Given the description of an element on the screen output the (x, y) to click on. 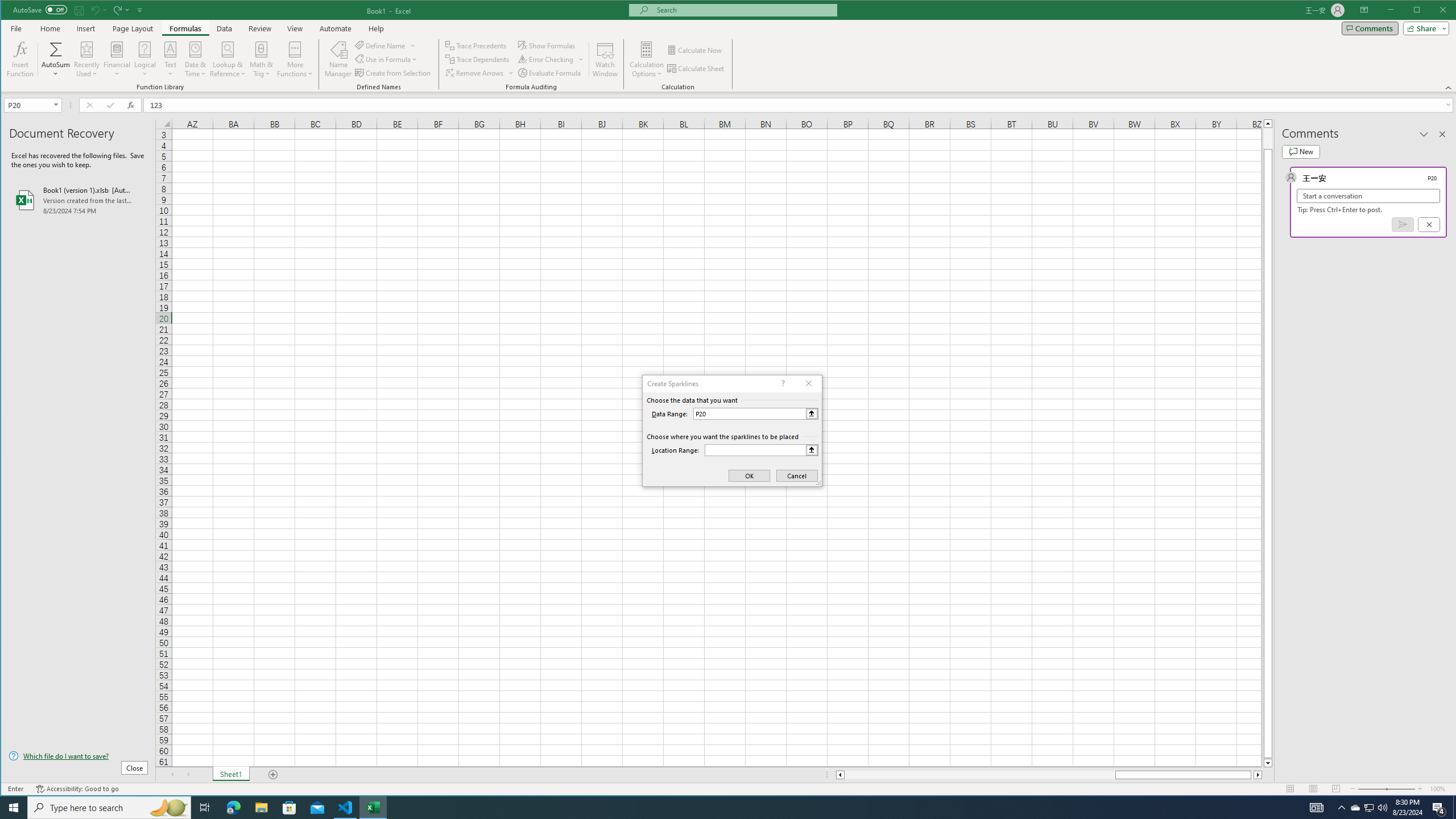
Task Pane Options (1423, 133)
